Given the description of an element on the screen output the (x, y) to click on. 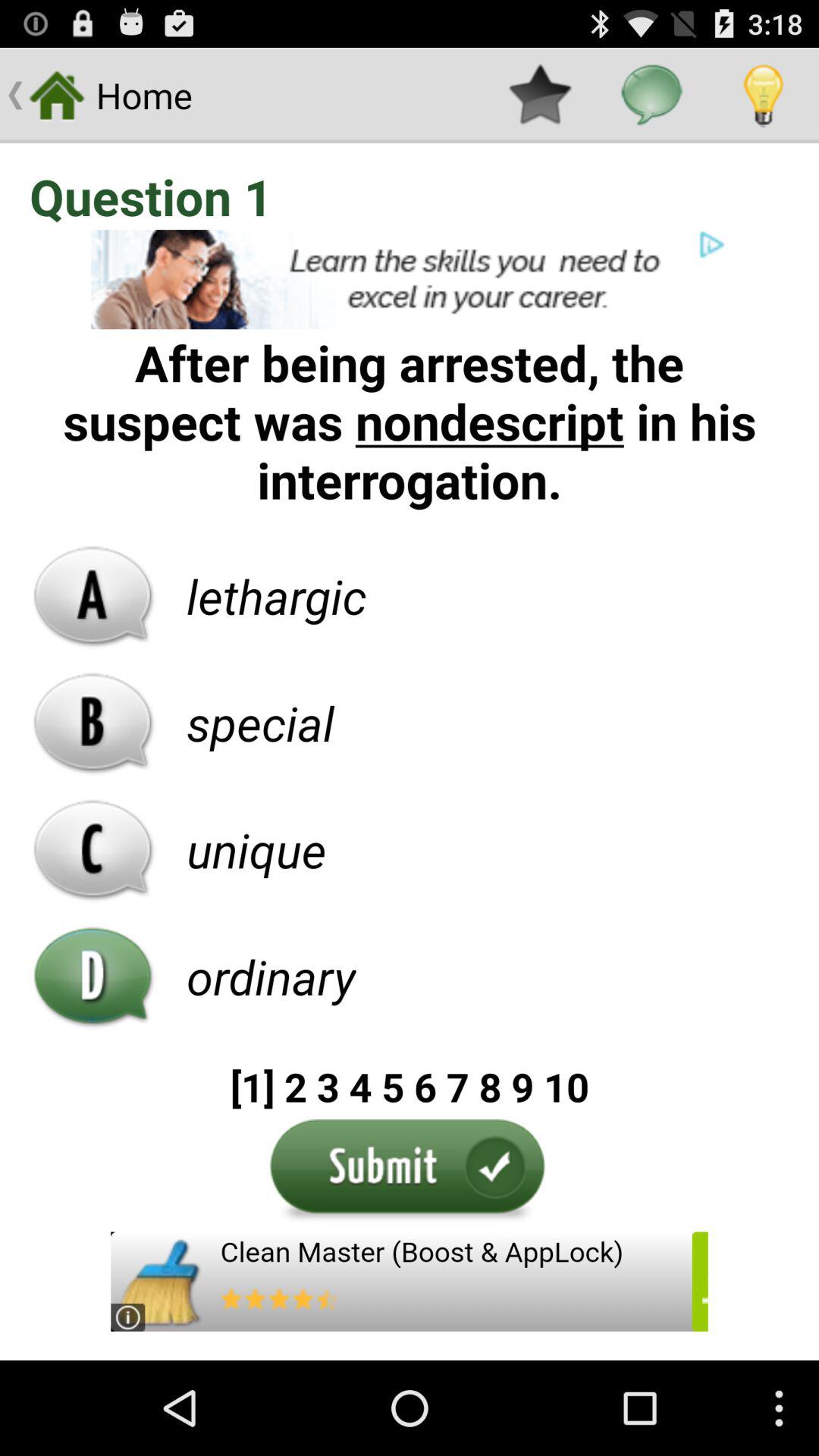
click the icon beside unique (93, 849)
select the text above special (276, 595)
click the icon beside ordinary (93, 976)
click on icon left to lethargic (93, 596)
click on the icon beside special (93, 722)
select the text which is below the special (256, 850)
click on submit at the bottom of the web page (409, 1172)
the star button at the top of the page (540, 95)
select the text which is below the unique (271, 976)
click on the information icon which is at the bottom (127, 1317)
click on the text special which is palced right side of the option b (260, 722)
click submit button (409, 1172)
